Given the description of an element on the screen output the (x, y) to click on. 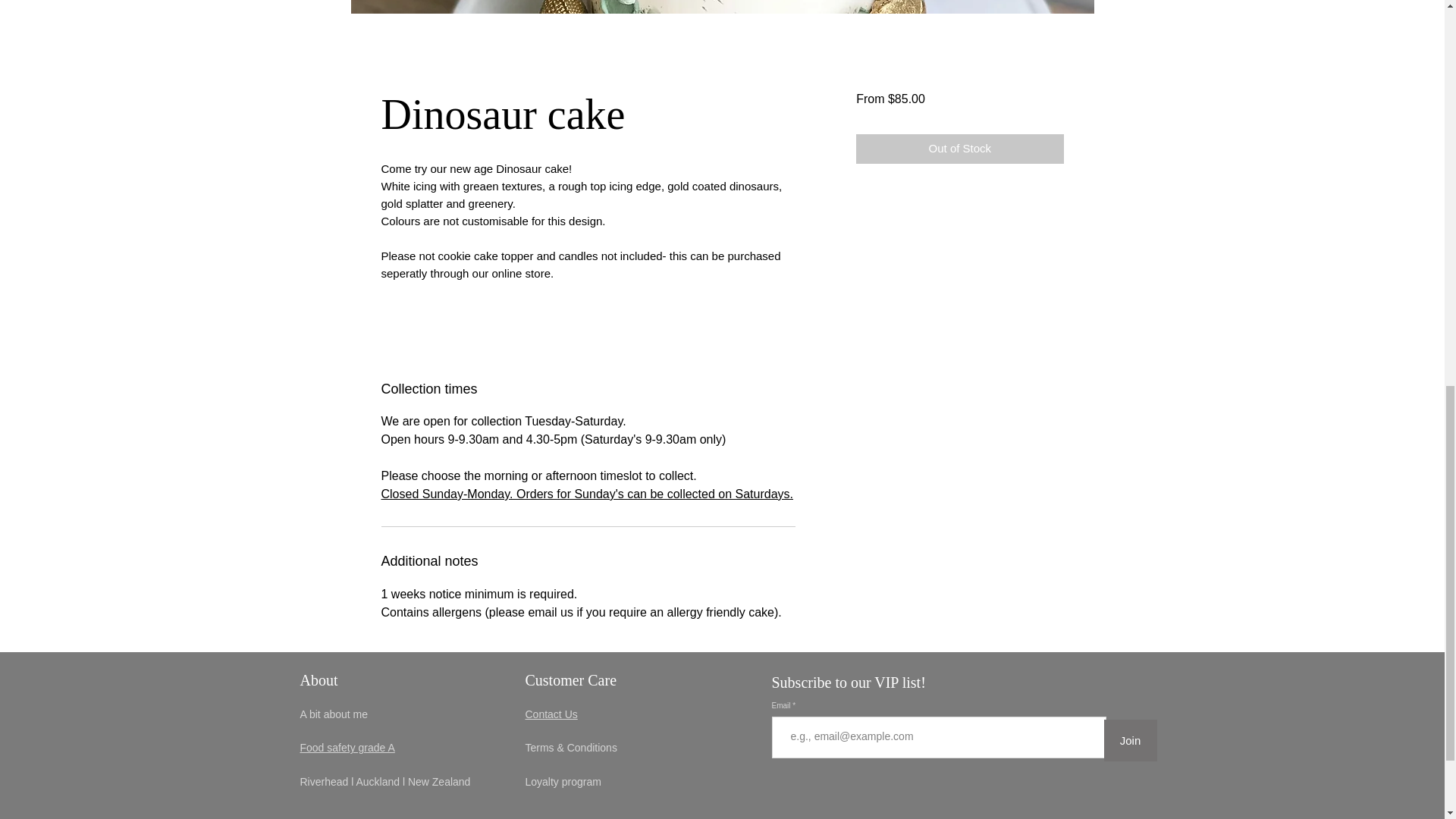
Food safety grade A (346, 747)
Contact Us (550, 714)
Join (1130, 740)
A bit about me (333, 714)
Loyalty program (561, 781)
Out of Stock (959, 148)
Riverhead l Auckland l New Zealand (384, 775)
